Given the description of an element on the screen output the (x, y) to click on. 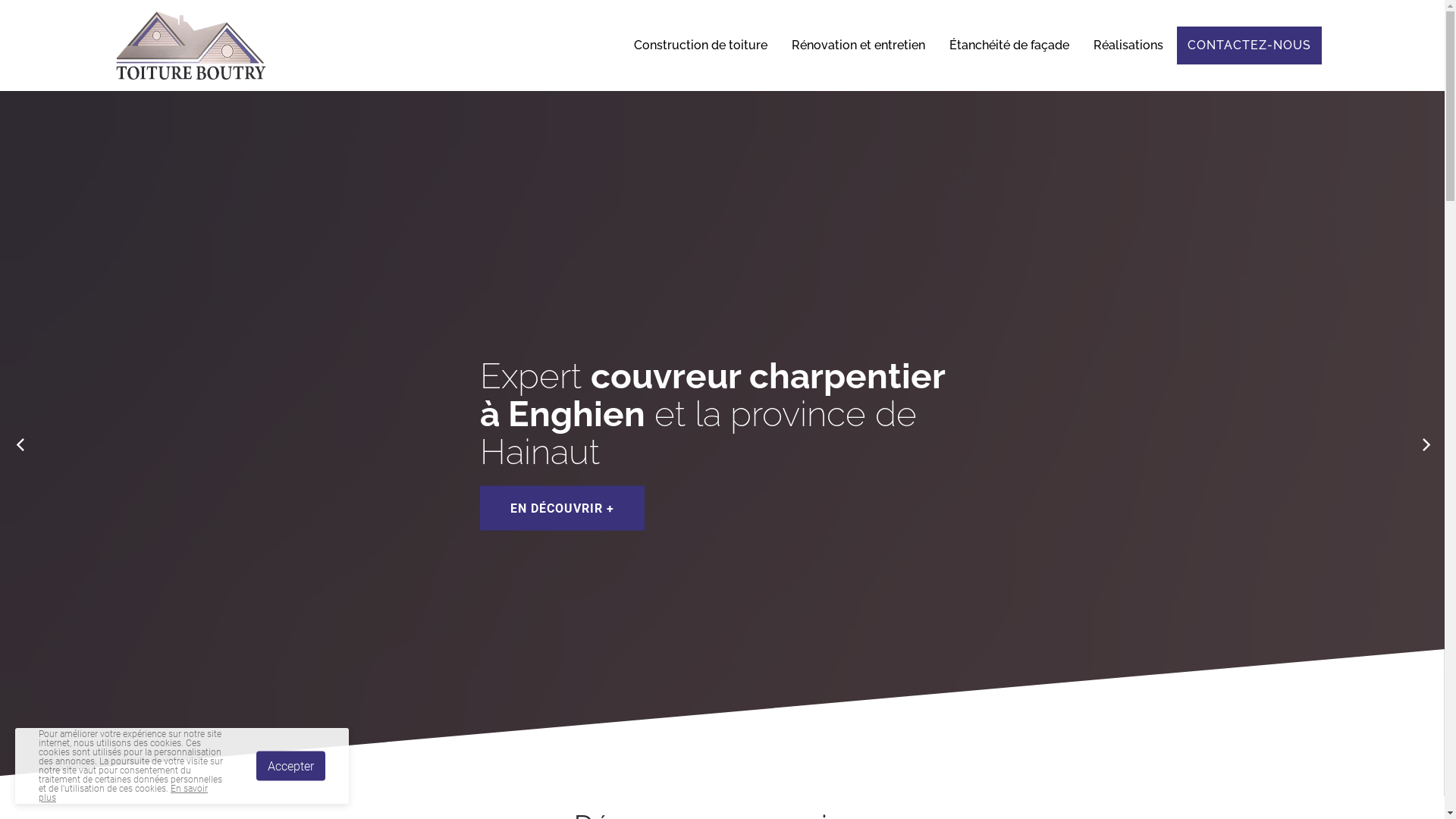
En savoir plus Element type: text (122, 793)
Construction de toiture Element type: text (700, 45)
Accepter Element type: text (290, 765)
CONTACTEZ-NOUS Element type: text (1248, 45)
